Given the description of an element on the screen output the (x, y) to click on. 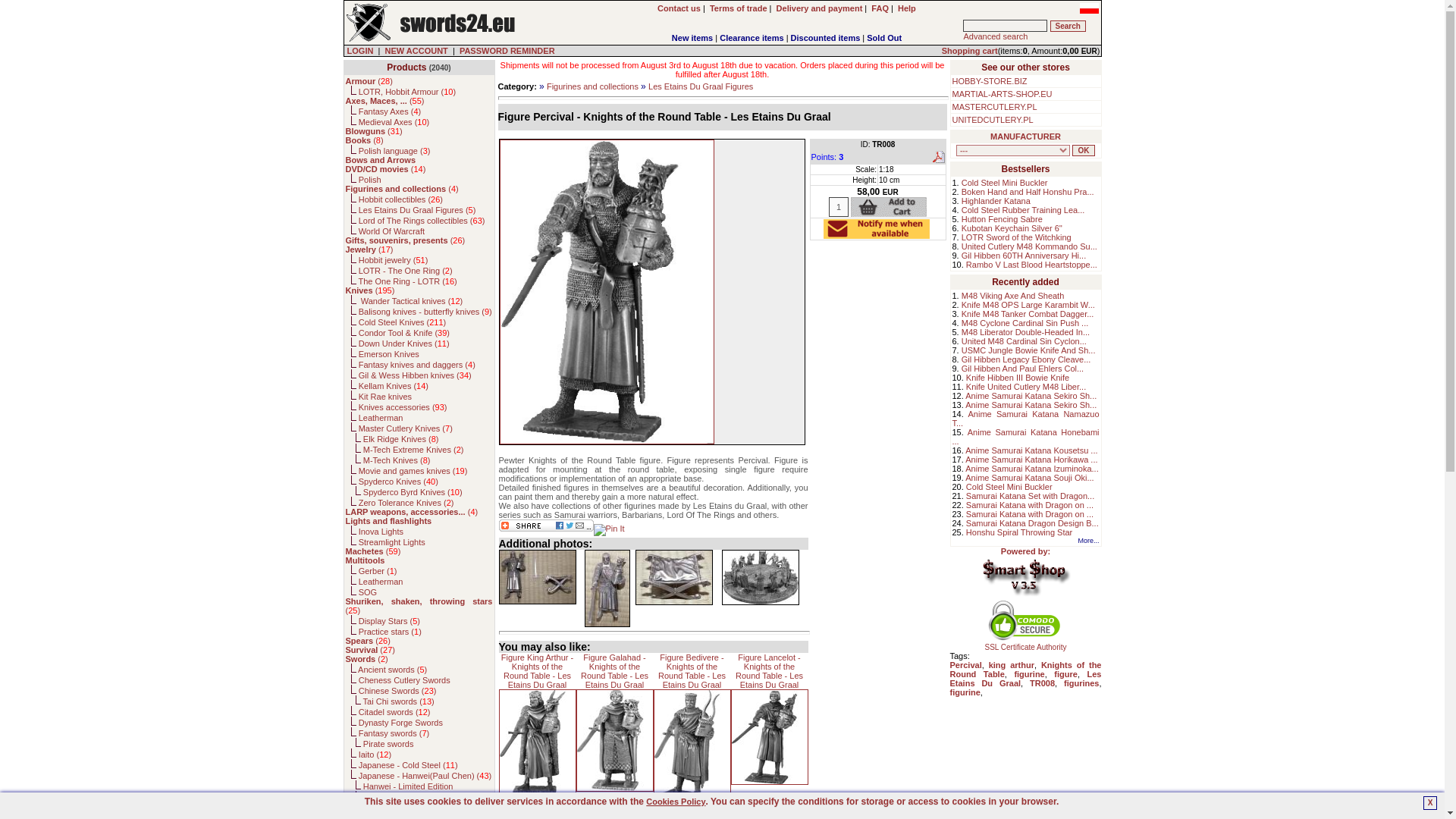
Polish version (1089, 8)
FAQ (879, 8)
Help (906, 8)
PASSWORD REMINDER (507, 50)
Contact us (679, 8)
Forgot your password? (507, 50)
Search (1067, 25)
Help (906, 8)
